Given the description of an element on the screen output the (x, y) to click on. 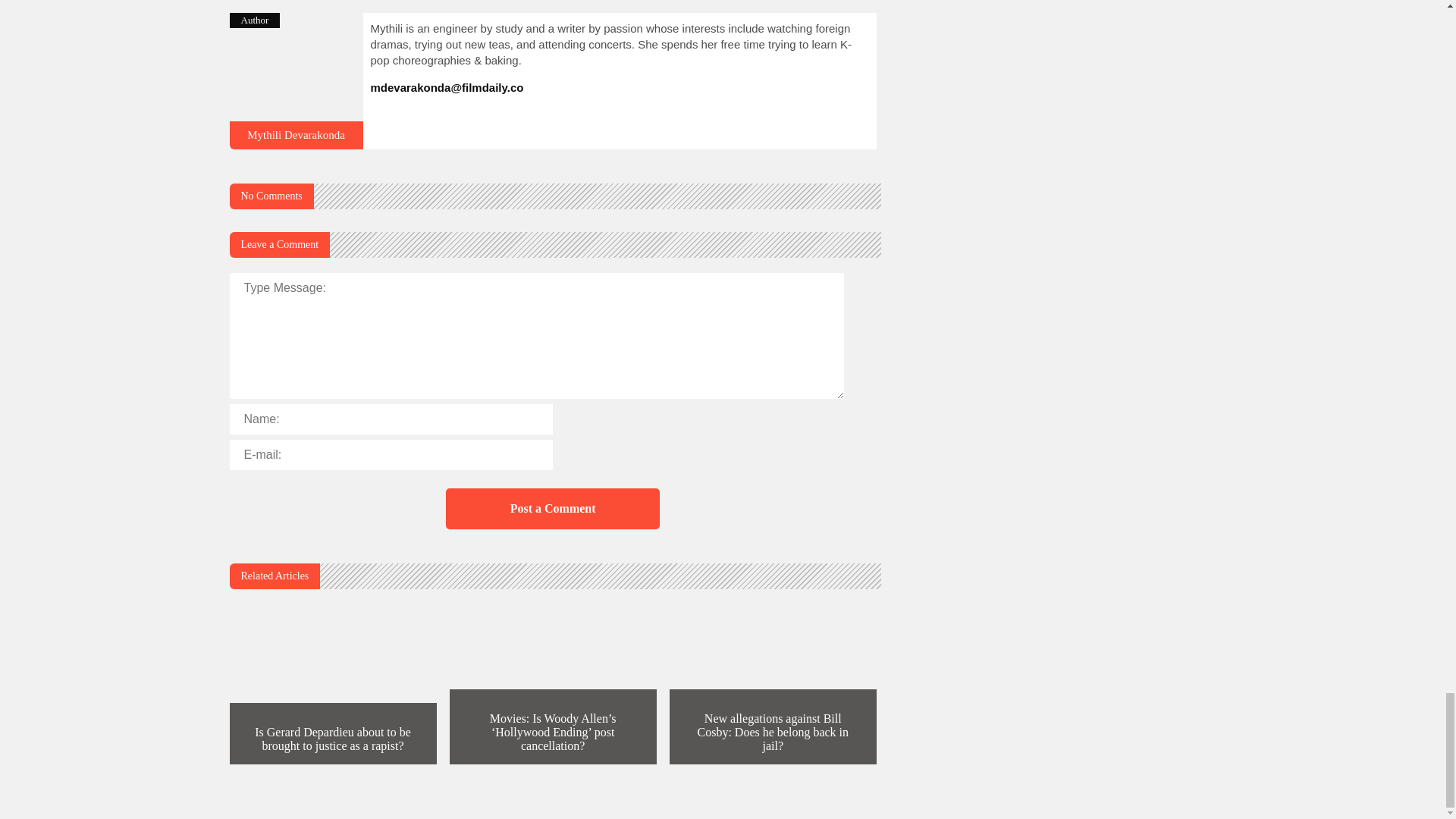
Post a Comment (552, 508)
